Given the description of an element on the screen output the (x, y) to click on. 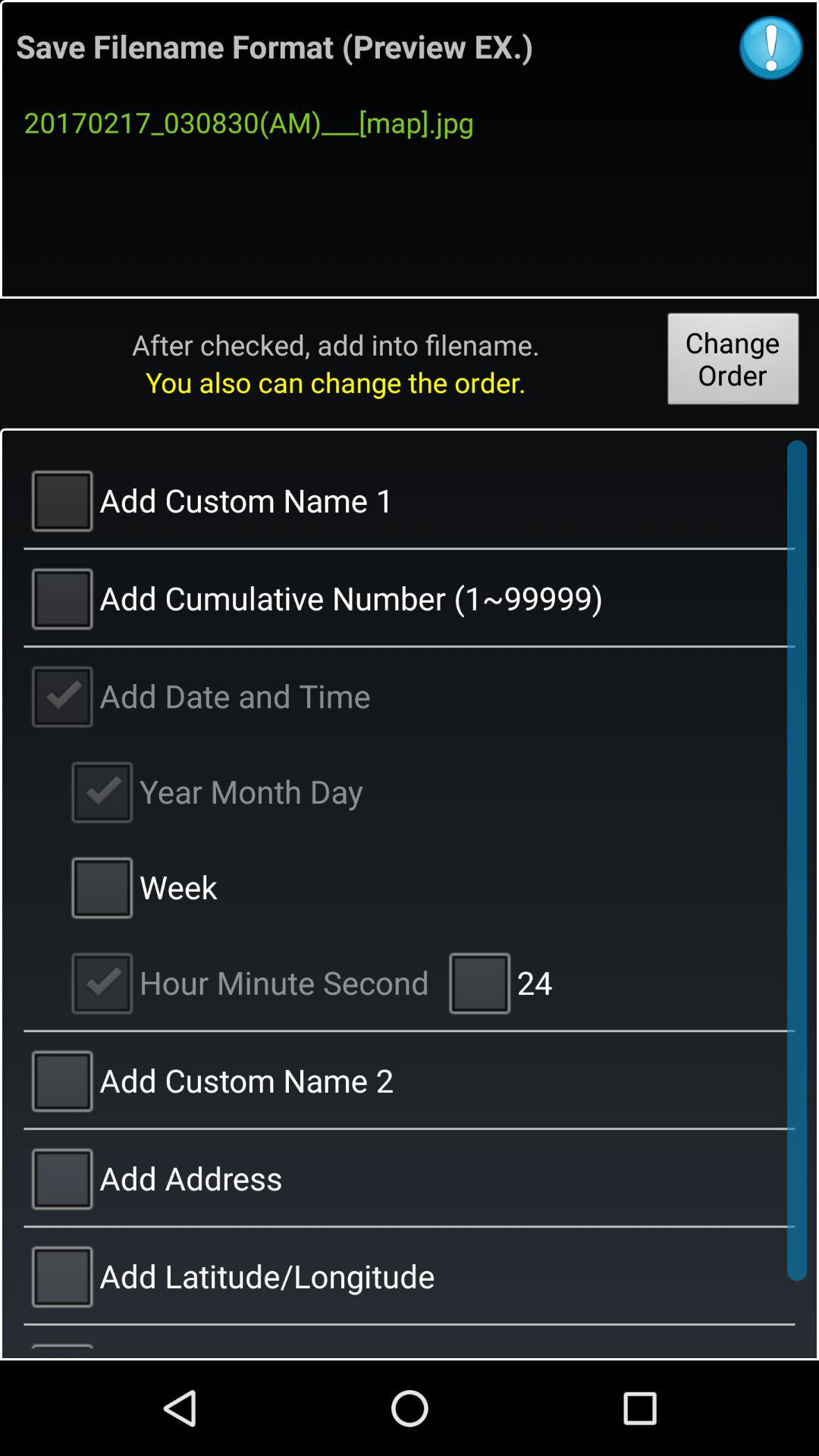
attention help assistance (771, 47)
